Given the description of an element on the screen output the (x, y) to click on. 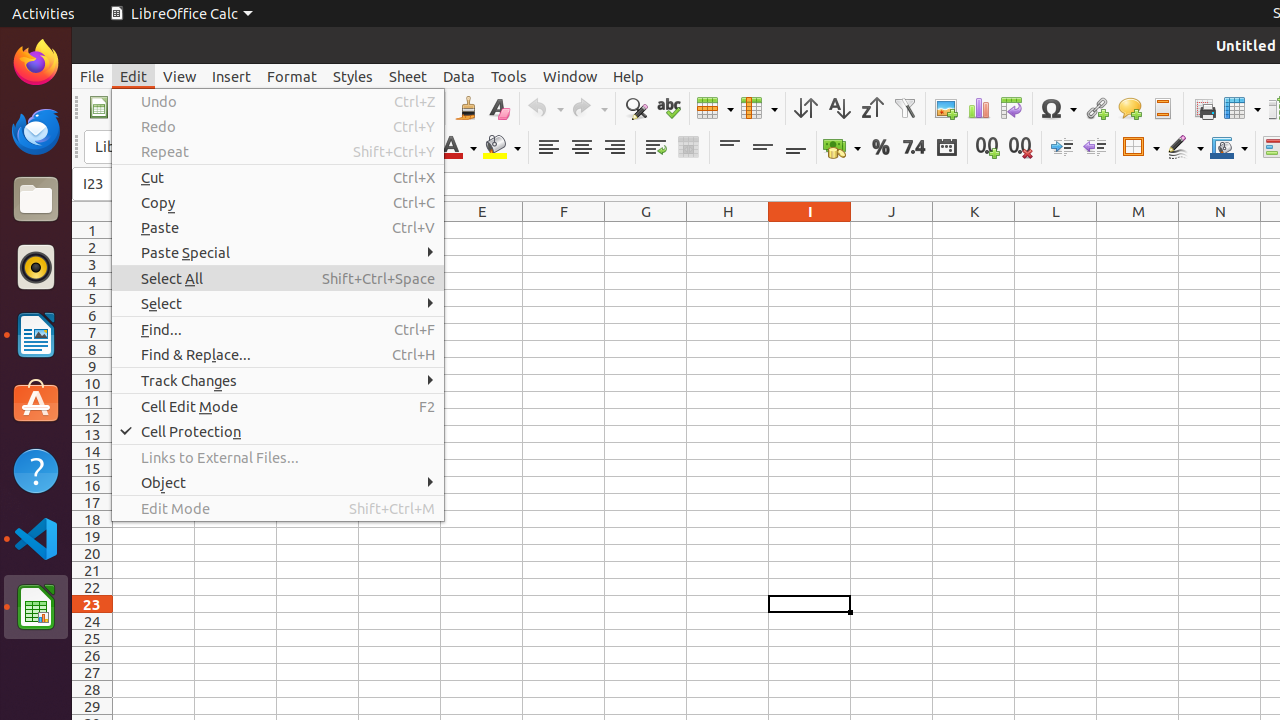
Paste Special Element type: menu (278, 252)
Column Element type: push-button (759, 108)
Percent Element type: push-button (880, 147)
Currency Element type: push-button (842, 147)
Apply Style Element type: text (73, 129)
